Given the description of an element on the screen output the (x, y) to click on. 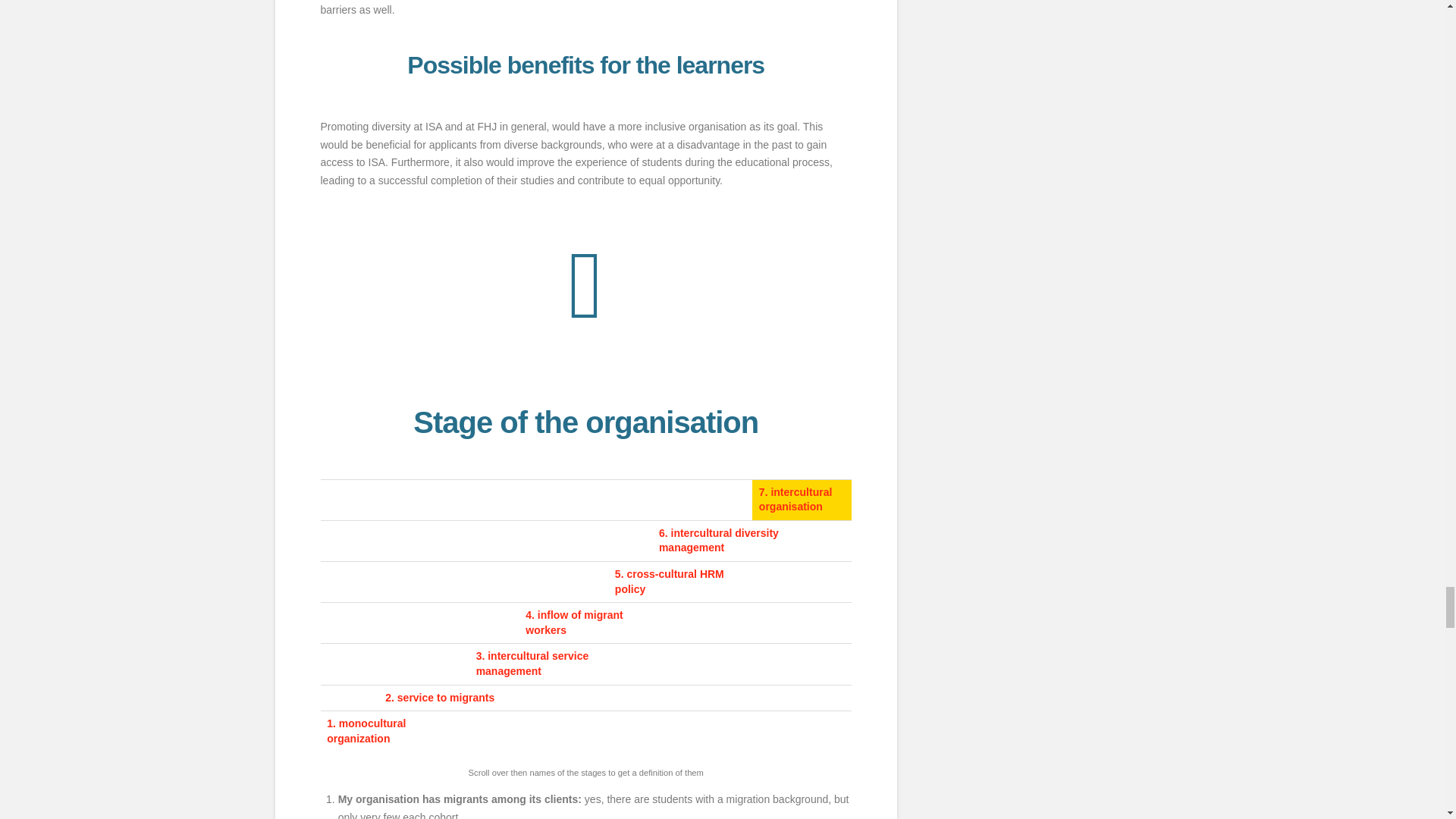
4. inflow of migrant workers (574, 622)
3. intercultural service management (532, 663)
1. monocultural organization (366, 730)
7. intercultural organisation (794, 499)
6. intercultural diversity management (718, 540)
